Given the description of an element on the screen output the (x, y) to click on. 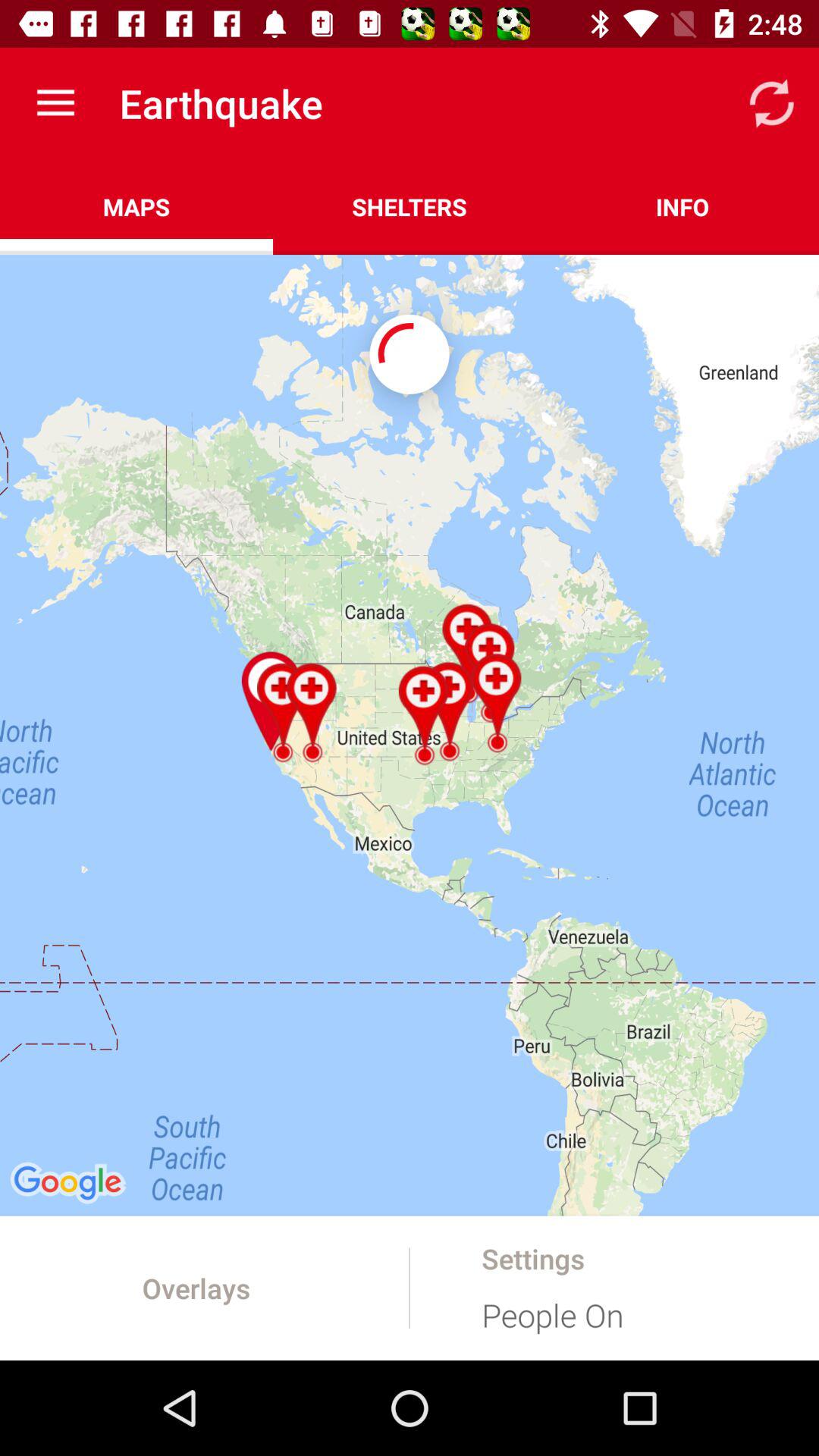
turn on the app to the left of the earthquake (55, 103)
